Given the description of an element on the screen output the (x, y) to click on. 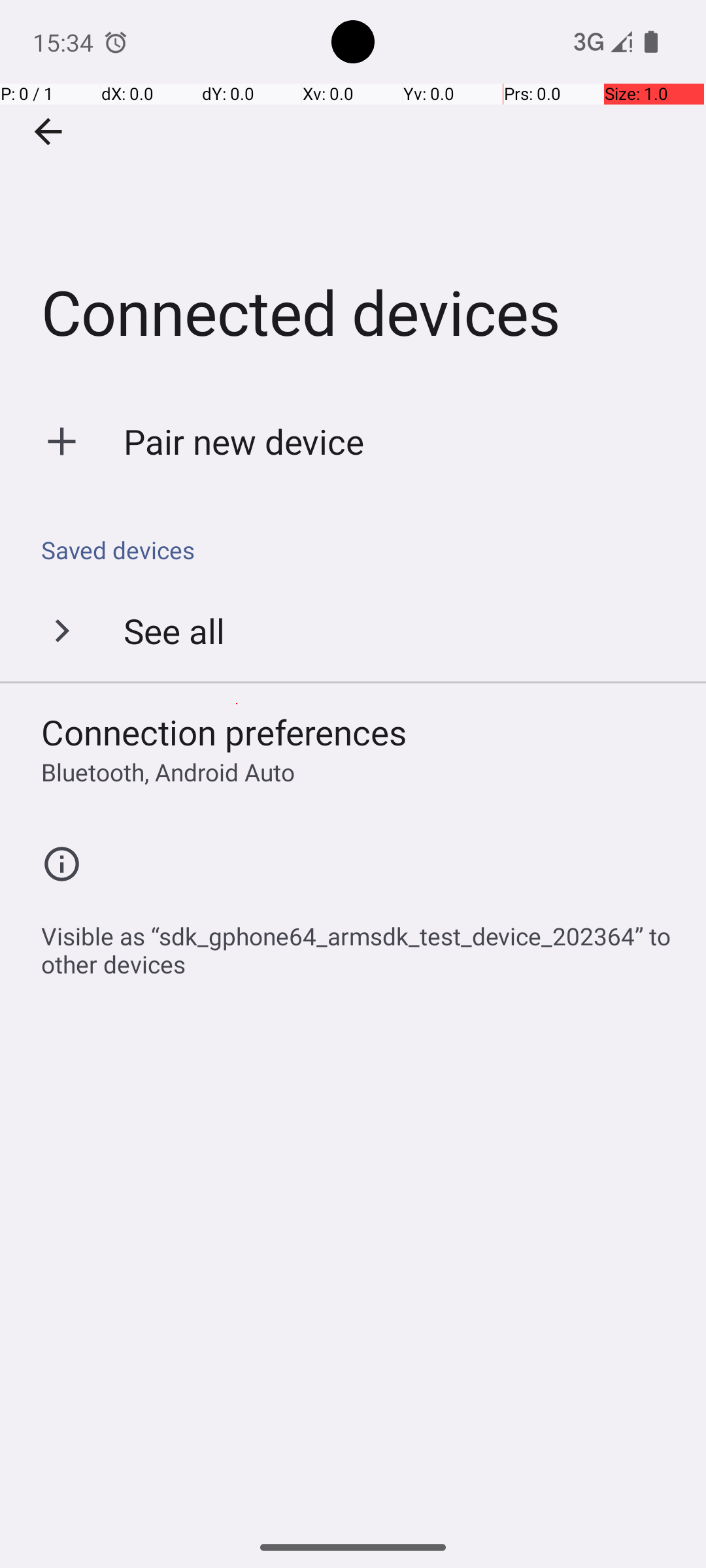
Visible as “sdk_gphone64_armsdk_test_device_202364” to other devices Element type: android.widget.TextView (359, 942)
